Given the description of an element on the screen output the (x, y) to click on. 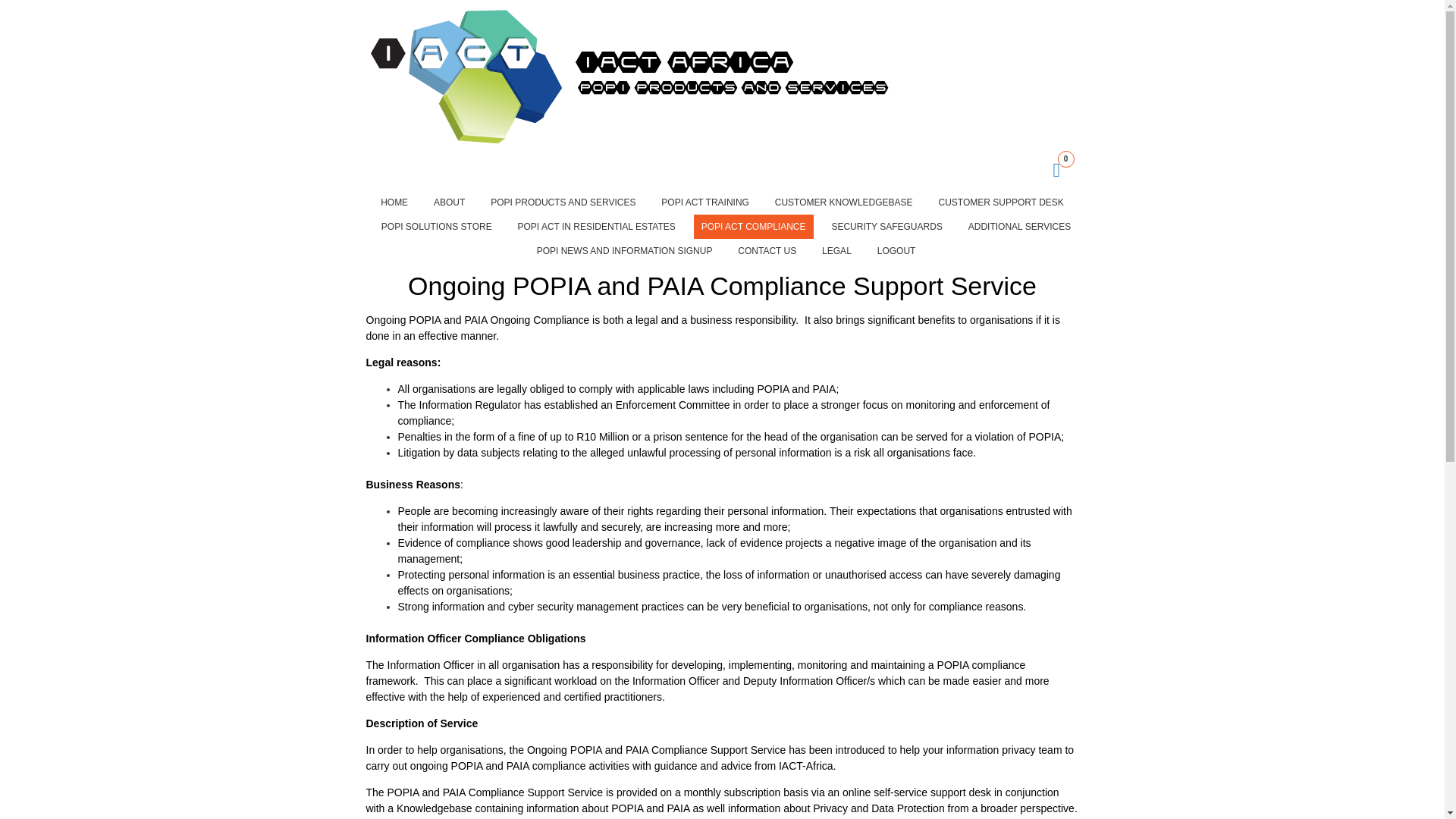
LEGAL (836, 250)
ABOUT (448, 202)
For All Your POPI Needs (633, 140)
ADDITIONAL SERVICES (1019, 226)
CONTACT US (766, 250)
POPI ACT IN RESIDENTIAL ESTATES (596, 226)
POPI SOLUTIONS STORE (436, 226)
SECURITY SAFEGUARDS (886, 226)
POPI PRODUCTS AND SERVICES (563, 202)
CUSTOMER SUPPORT DESK (1000, 202)
POPI ACT TRAINING (705, 202)
LOGOUT (896, 250)
POPI NEWS AND INFORMATION SIGNUP (624, 250)
POPI ACT COMPLIANCE (753, 226)
HOME (393, 202)
